Given the description of an element on the screen output the (x, y) to click on. 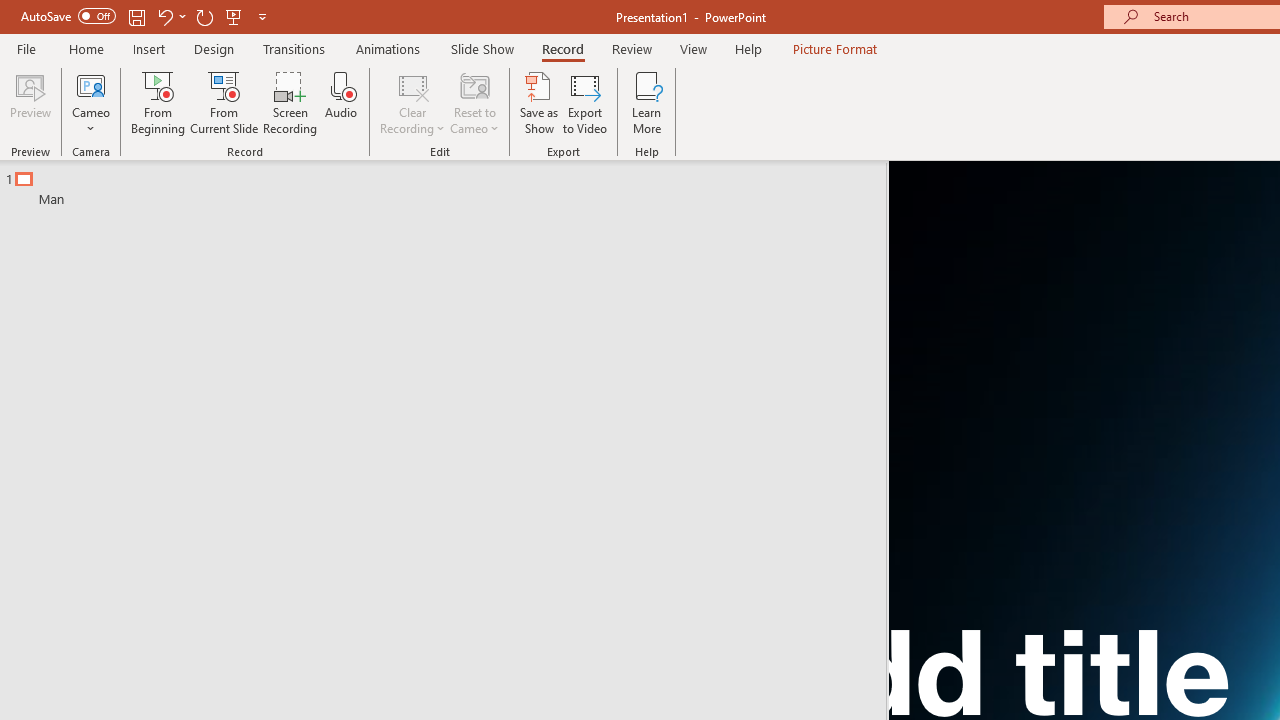
Save as Show (539, 102)
Learn More (646, 102)
Screen Recording (290, 102)
Clear Recording (412, 102)
Reset to Cameo (474, 102)
